Given the description of an element on the screen output the (x, y) to click on. 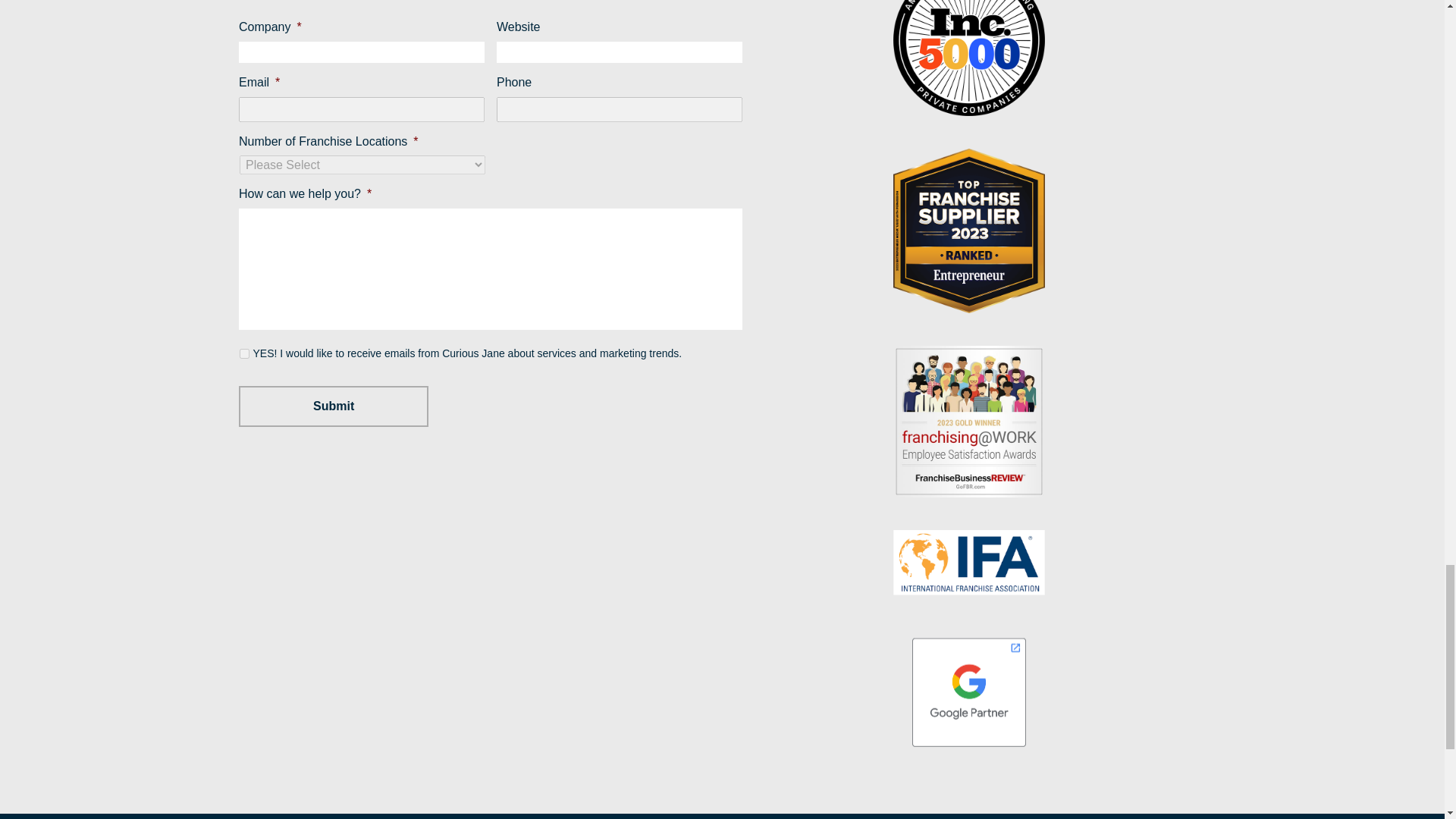
Submit (333, 405)
Submit (333, 405)
